Given the description of an element on the screen output the (x, y) to click on. 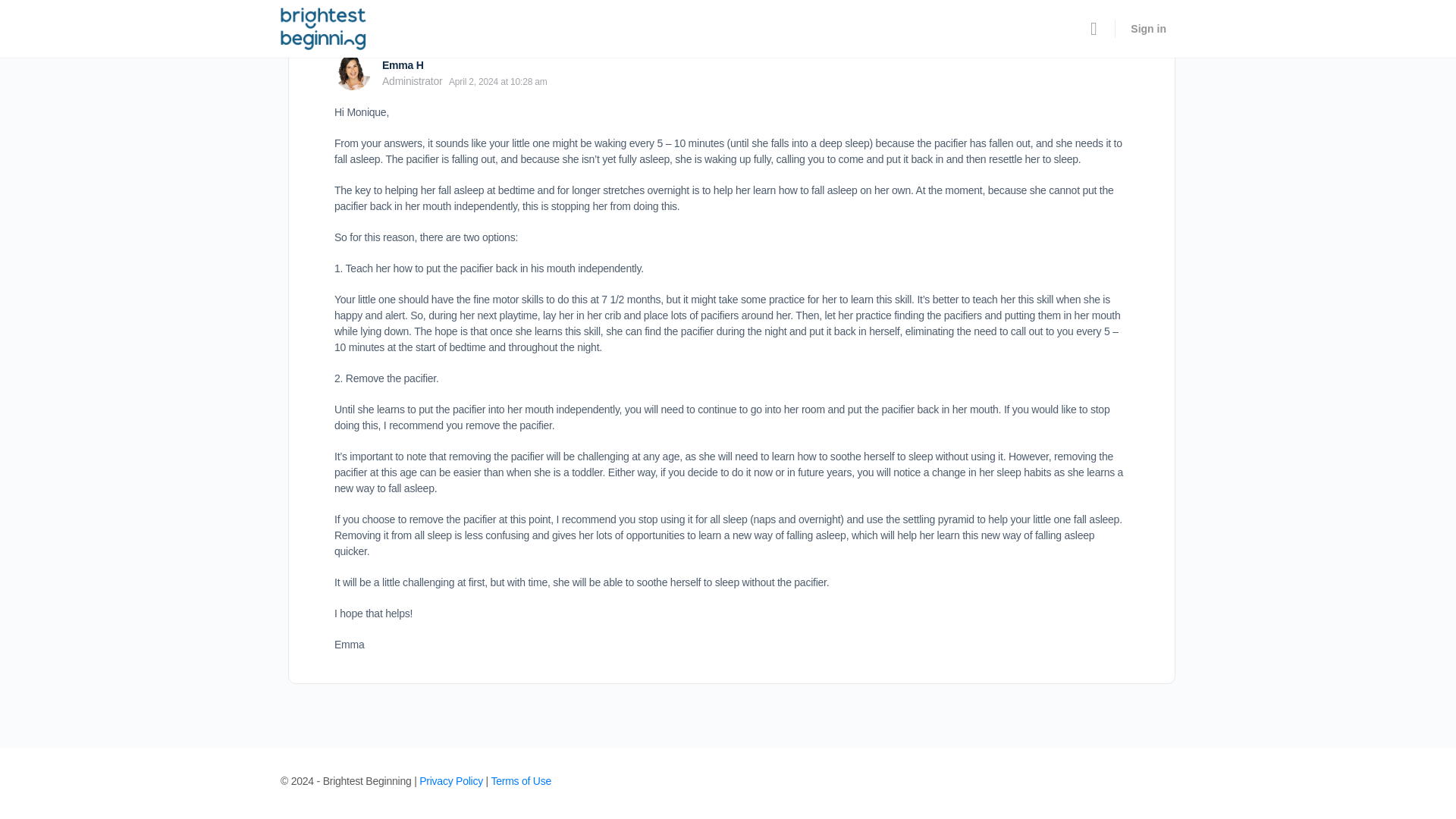
Sign in (1147, 28)
Emma H (402, 64)
View Emma H's profile (352, 72)
Privacy Policy (451, 780)
Terms of Use (520, 780)
View Emma H's profile (402, 64)
